Given the description of an element on the screen output the (x, y) to click on. 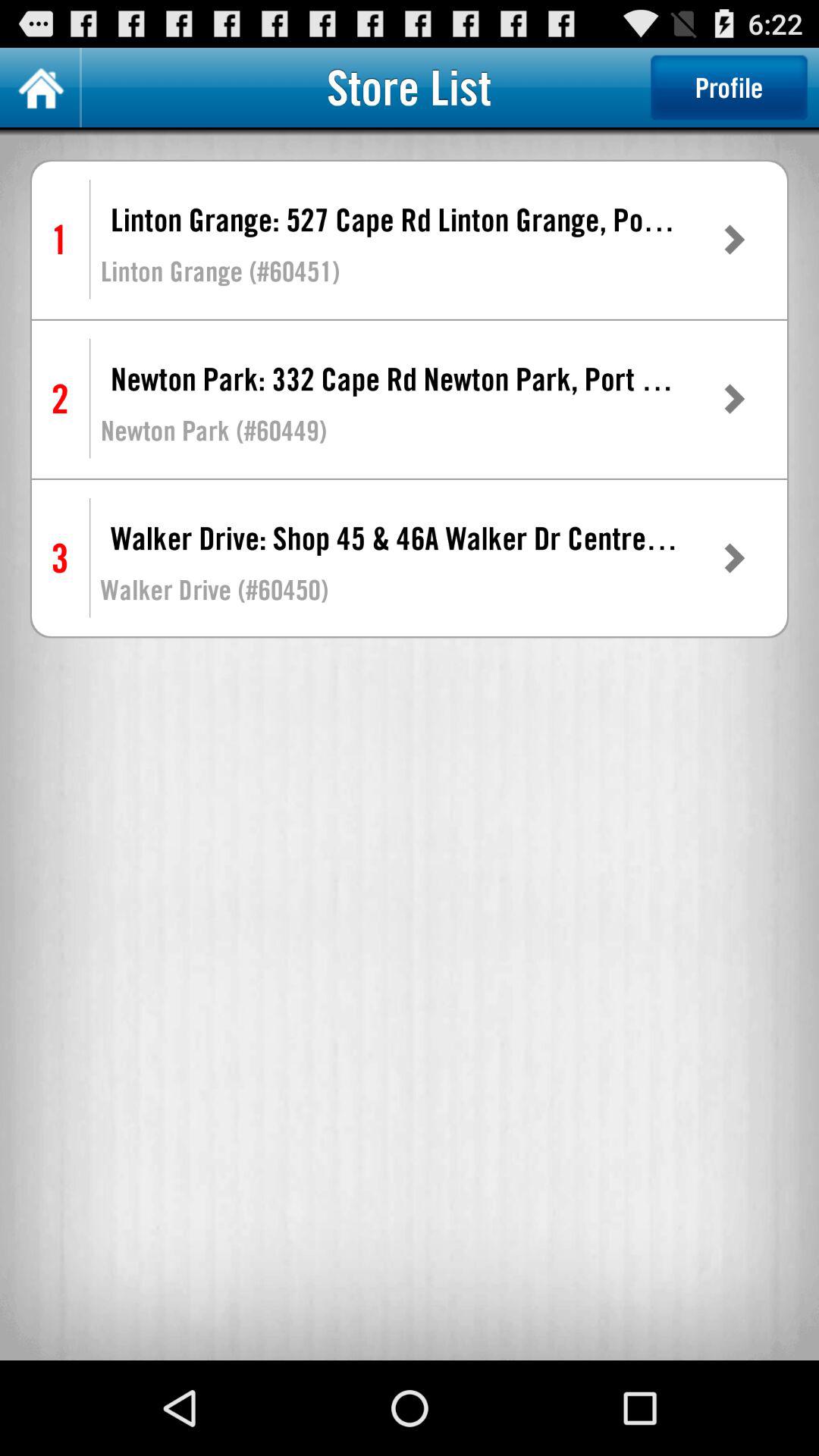
turn off app to the right of the store list item (728, 87)
